Given the description of an element on the screen output the (x, y) to click on. 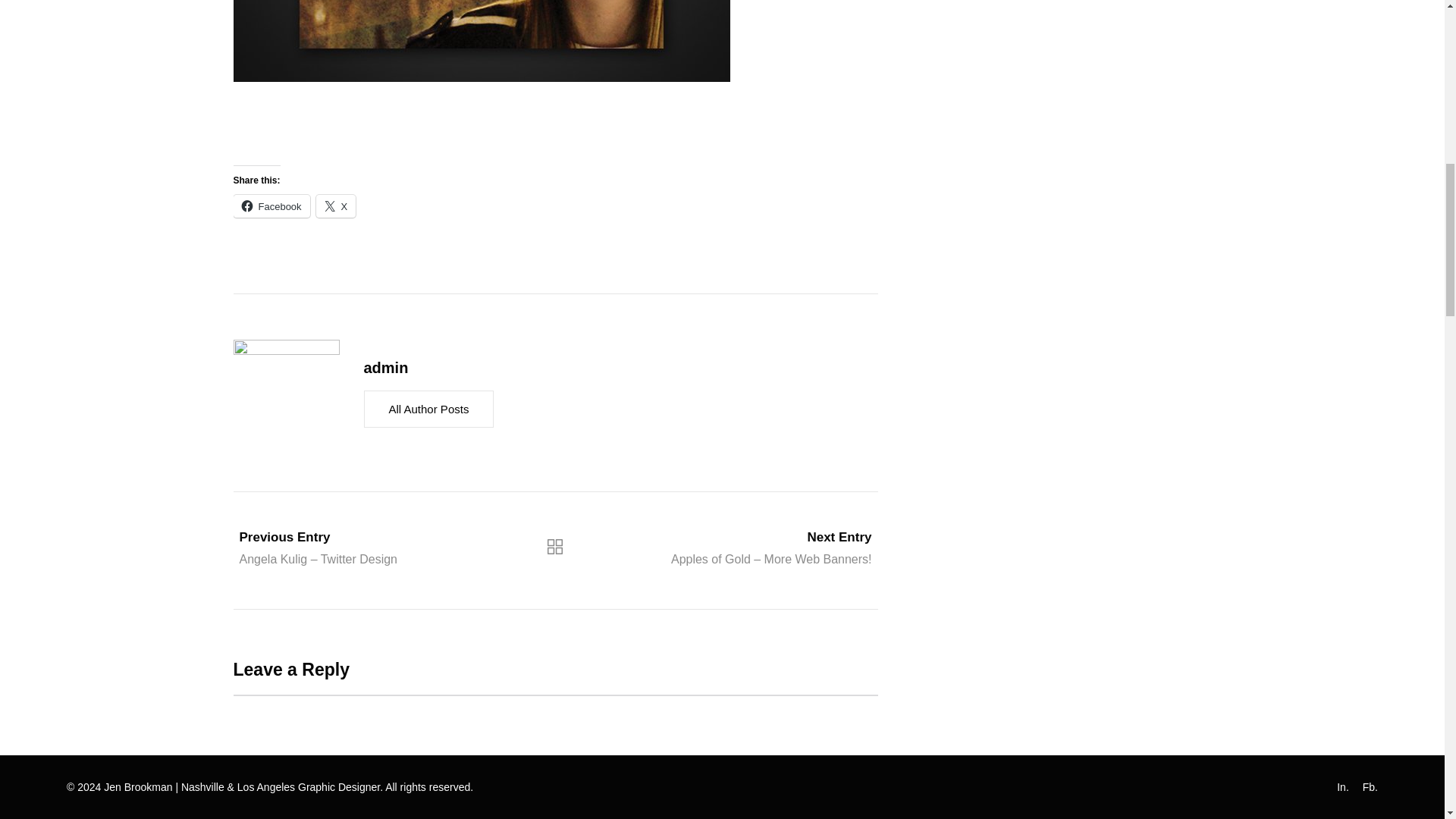
Comment Form (554, 756)
Click to share on X (335, 205)
Click to share on Facebook (271, 205)
BrookieBcardsBLOG (481, 40)
